Given the description of an element on the screen output the (x, y) to click on. 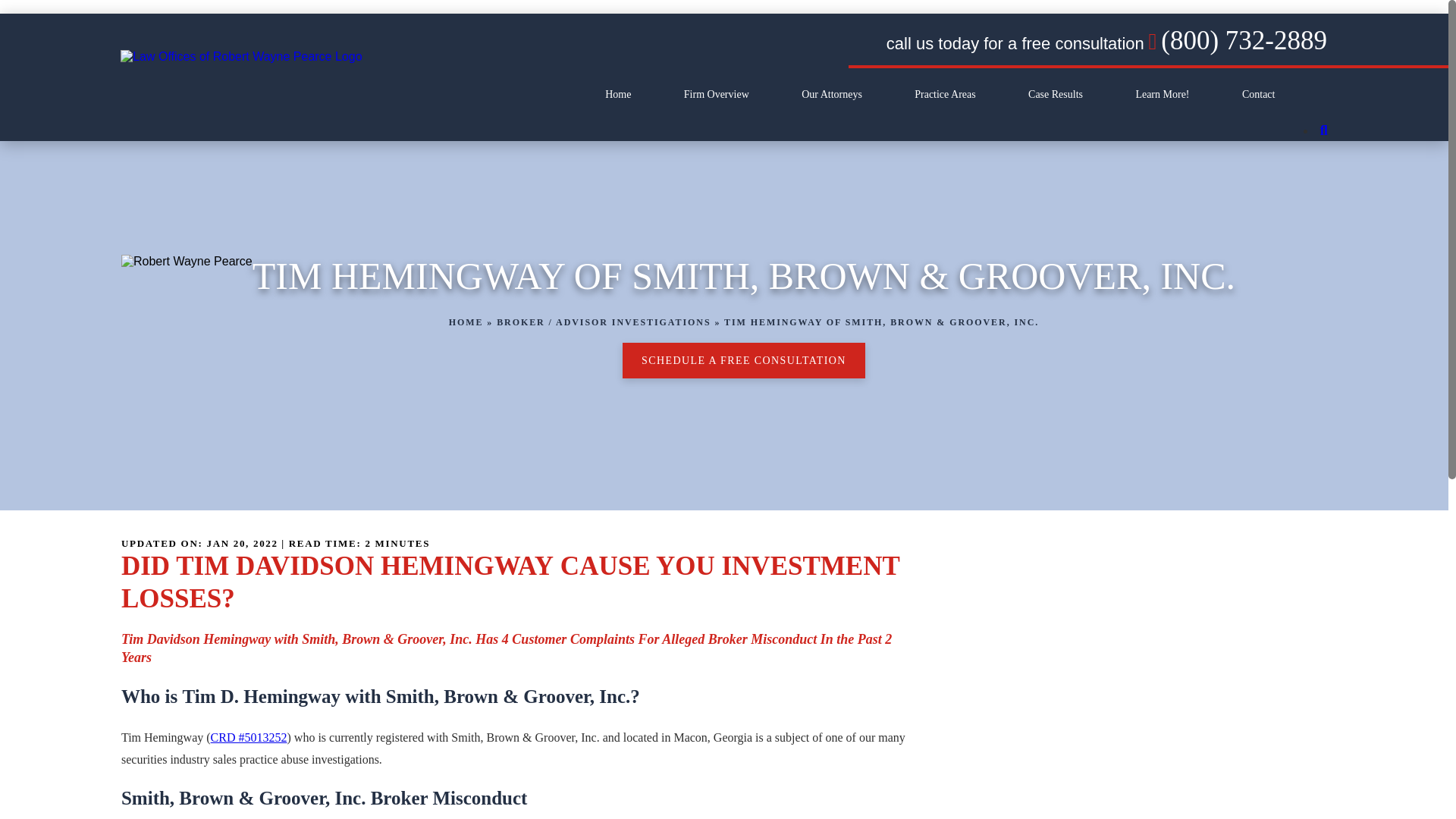
Firm Overview (716, 93)
Practice Areas (944, 93)
Case Results (1055, 93)
Learn More! (1162, 93)
Home (617, 93)
Our Attorneys (831, 93)
